Given the description of an element on the screen output the (x, y) to click on. 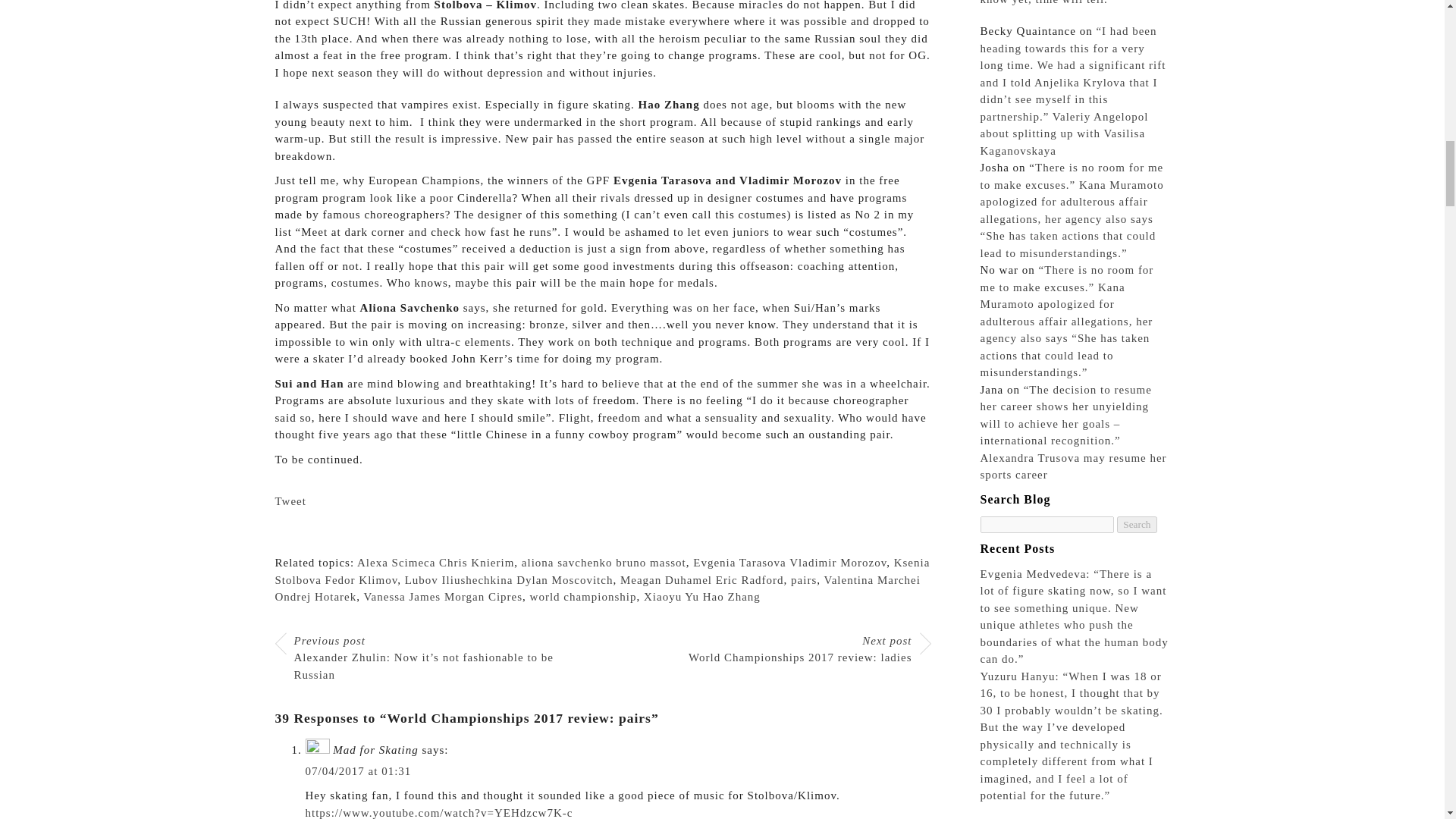
Evgenia Tarasova Vladimir Morozov (789, 562)
Tweet (290, 500)
Ksenia Stolbova Fedor Klimov (602, 571)
Meagan Duhamel Eric Radford (702, 579)
Alexa Scimeca Chris Knierim (434, 562)
Search (1136, 524)
Valentina Marchei Ondrej Hotarek (597, 587)
Lubov Iliushechkina Dylan Moscovitch (508, 579)
Vanessa James Morgan Cipres (442, 596)
world championship (583, 596)
pairs (803, 579)
aliona savchenko bruno massot (603, 562)
Xiaoyu Yu Hao Zhang (701, 596)
